Given the description of an element on the screen output the (x, y) to click on. 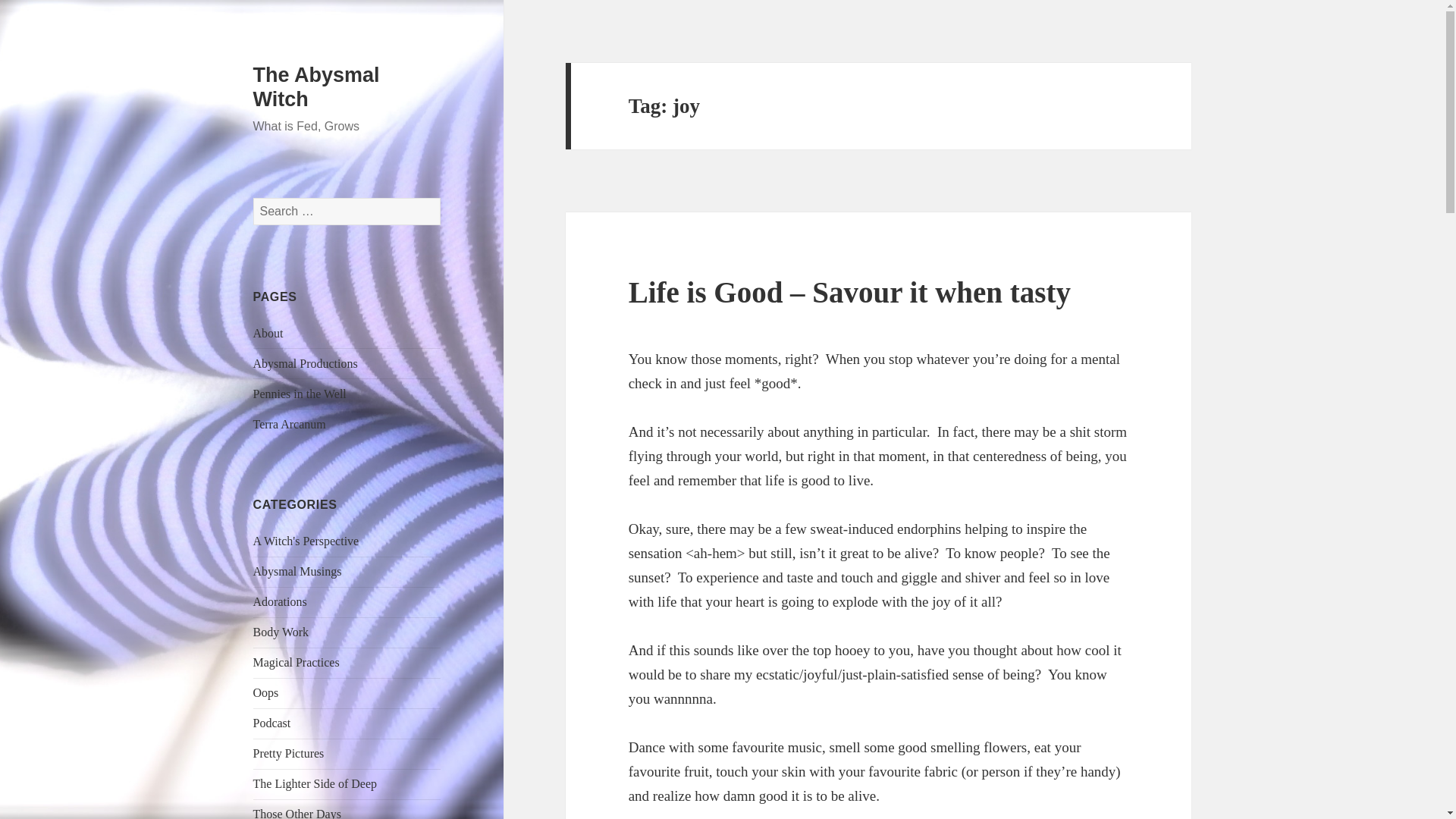
Abysmal Productions (305, 363)
A Witch's Perspective (306, 540)
Body Work (280, 631)
Adorations (280, 601)
The Lighter Side of Deep (315, 783)
The Abysmal Witch (316, 86)
Pennies in the Well (299, 393)
Oops (266, 692)
Those Other Days (296, 813)
Magical Practices (296, 662)
Abysmal Musings (297, 571)
Terra Arcanum (289, 423)
